Given the description of an element on the screen output the (x, y) to click on. 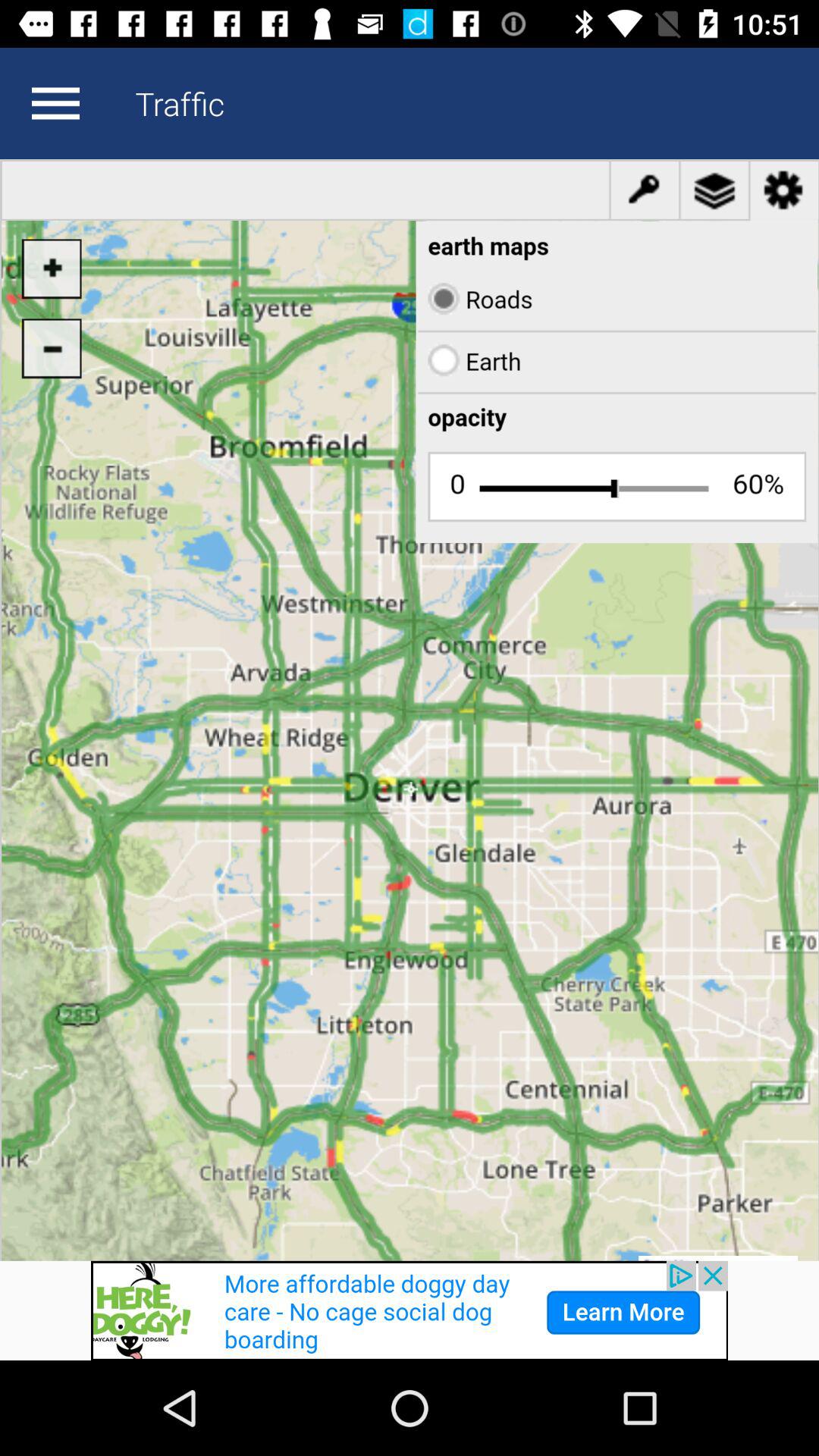
menu button (55, 103)
